Given the description of an element on the screen output the (x, y) to click on. 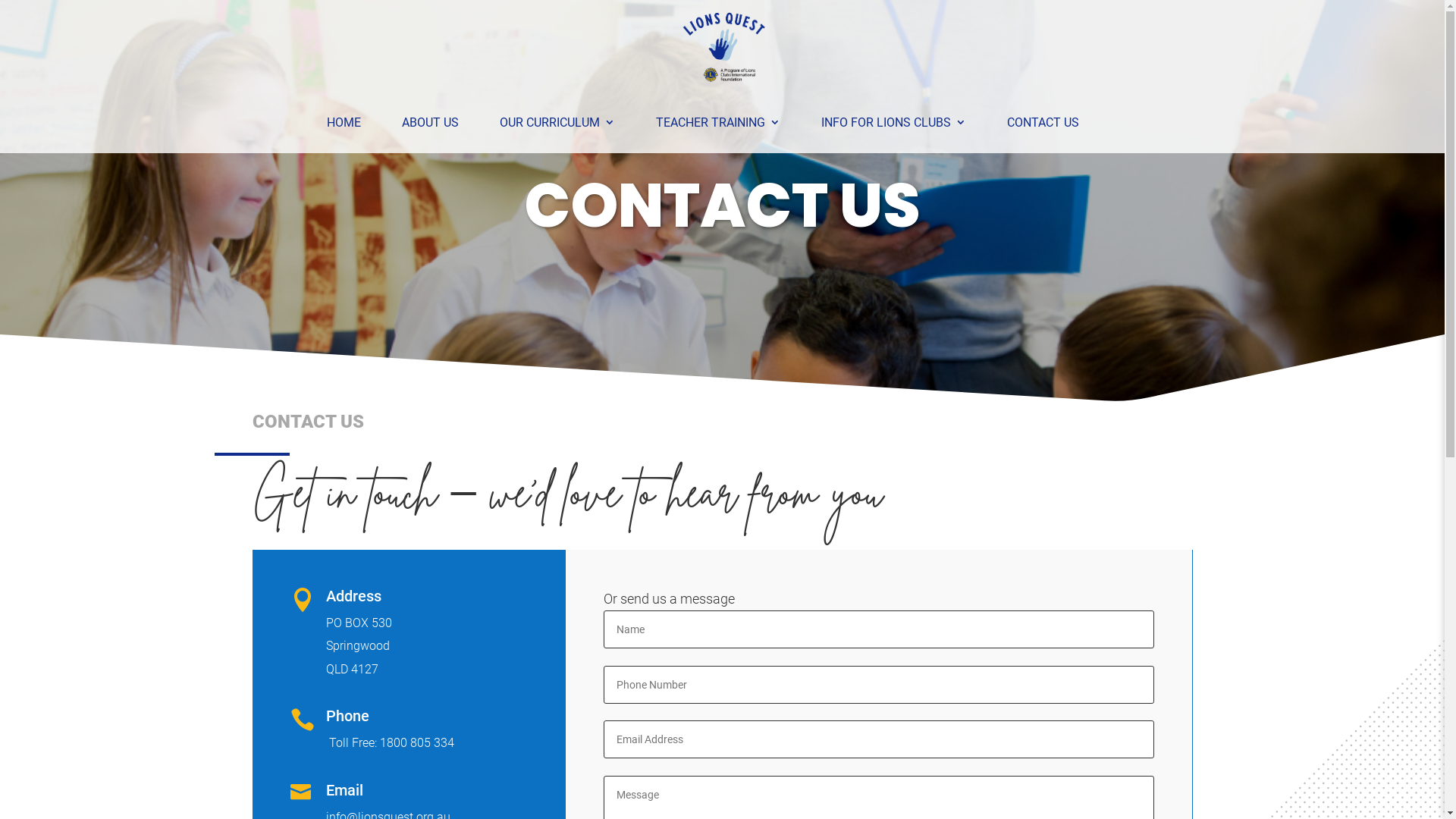
HOME Element type: text (343, 122)
TEACHER TRAINING Element type: text (717, 122)
Only letters allowed. Element type: hover (878, 629)
ABOUT US Element type: text (429, 122)
OUR CURRICULUM Element type: text (556, 122)
CONTACT US Element type: text (1043, 122)
INFO FOR LIONS CLUBS Element type: text (892, 122)
